Given the description of an element on the screen output the (x, y) to click on. 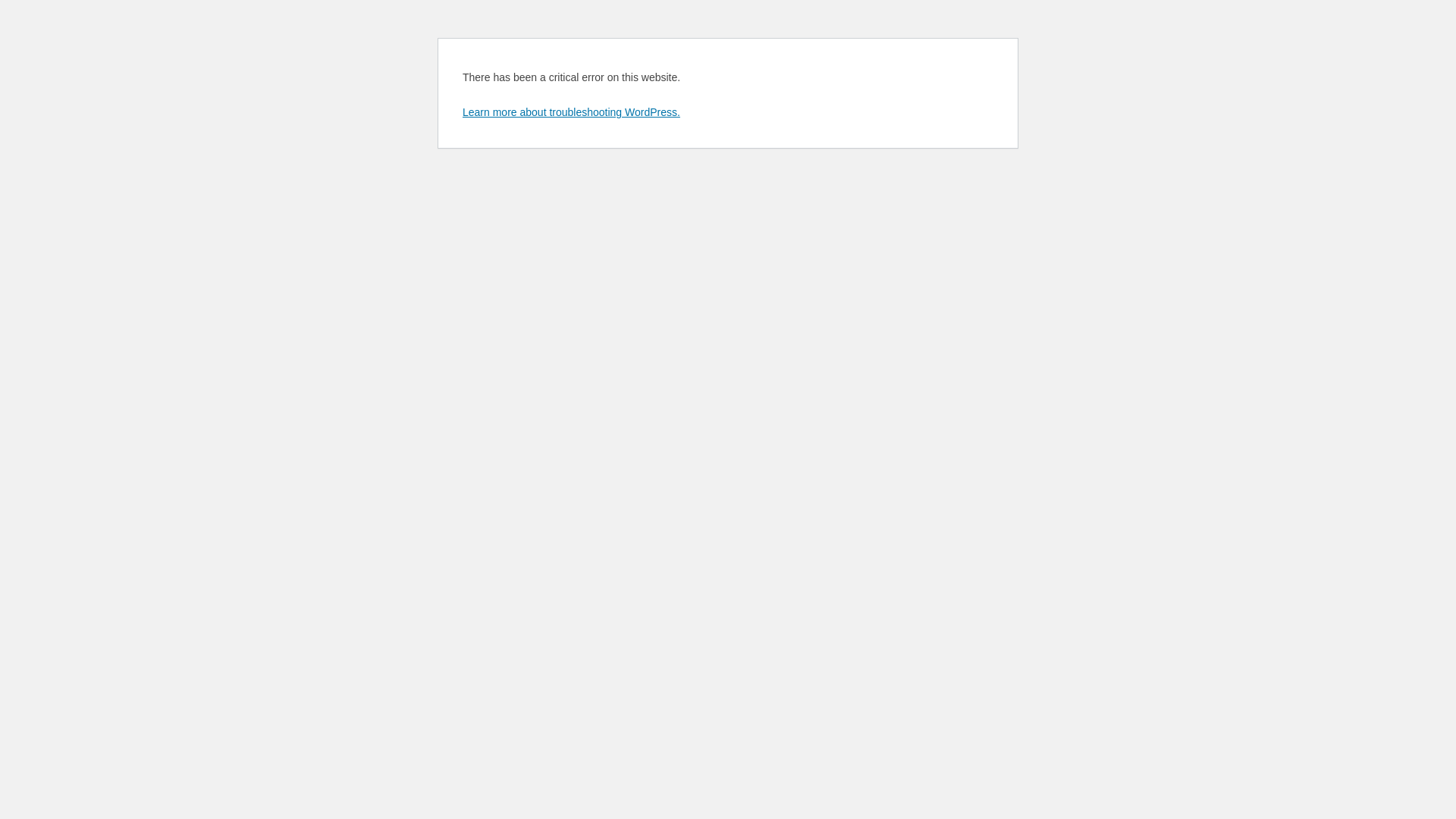
Learn more about troubleshooting WordPress. Element type: text (571, 112)
